Given the description of an element on the screen output the (x, y) to click on. 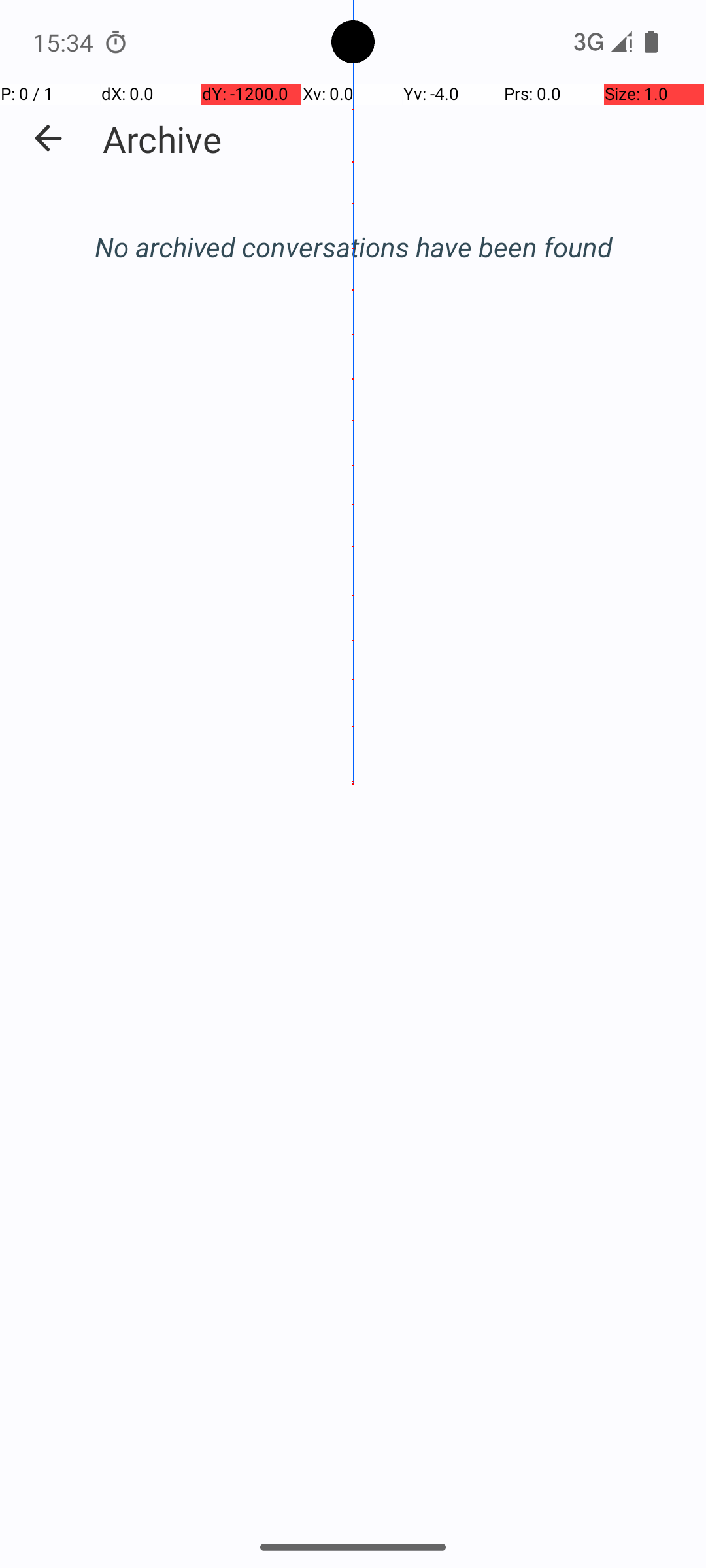
No archived conversations have been found Element type: android.widget.TextView (353, 246)
